Given the description of an element on the screen output the (x, y) to click on. 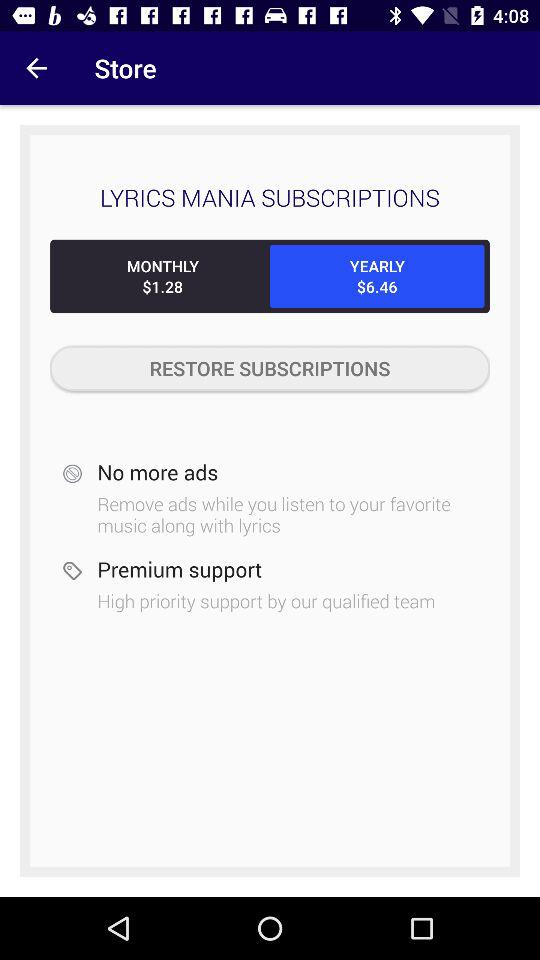
scroll to monthly
$1.28 item (162, 275)
